Given the description of an element on the screen output the (x, y) to click on. 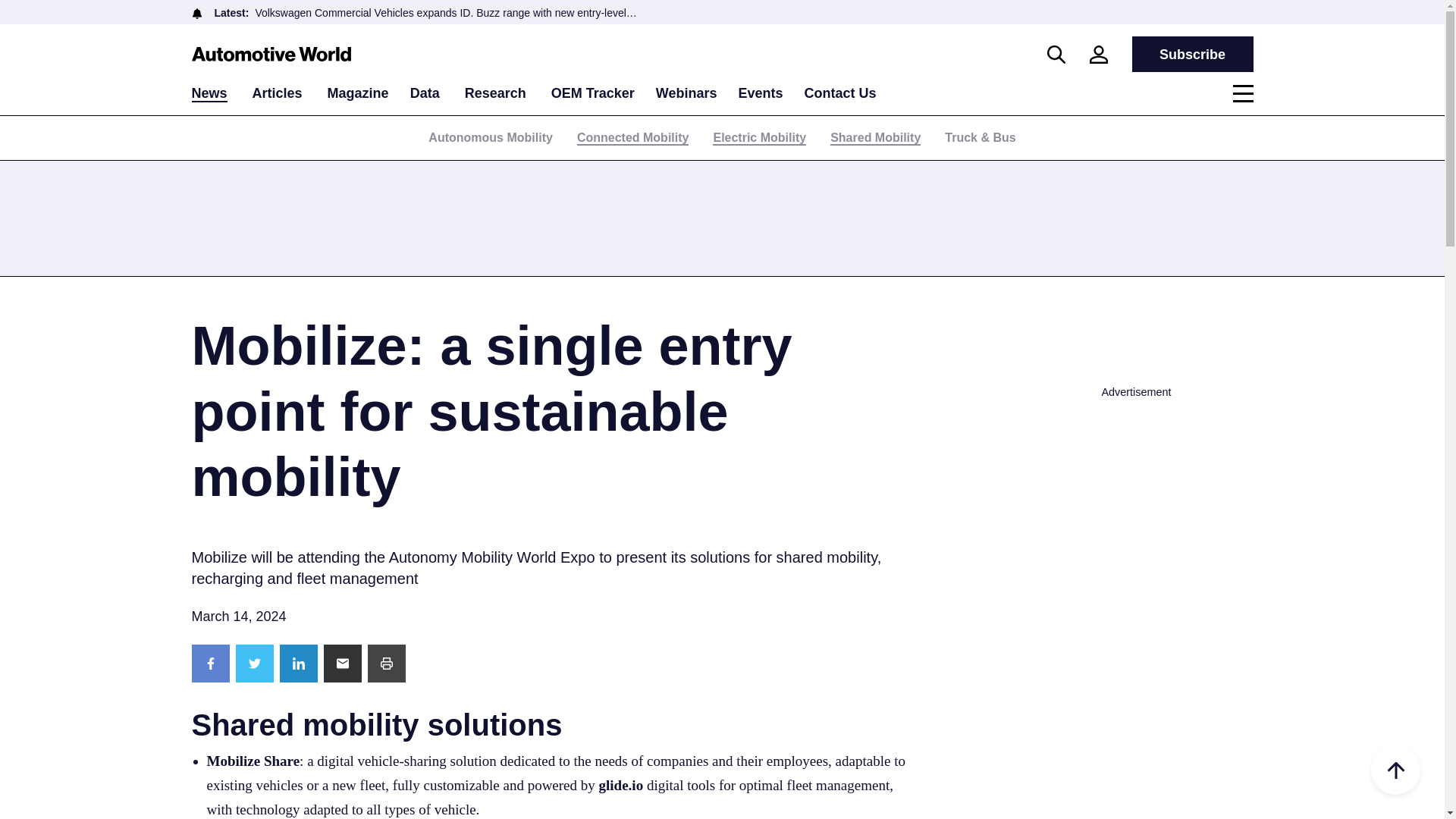
Login (1097, 54)
Subscribe (1191, 54)
Log In (781, 318)
Magazine (357, 92)
News (208, 93)
Shared Mobility (874, 138)
Data (424, 92)
Subscribe (1191, 54)
Connected Mobility (632, 138)
Autonomous Mobility (490, 137)
